Given the description of an element on the screen output the (x, y) to click on. 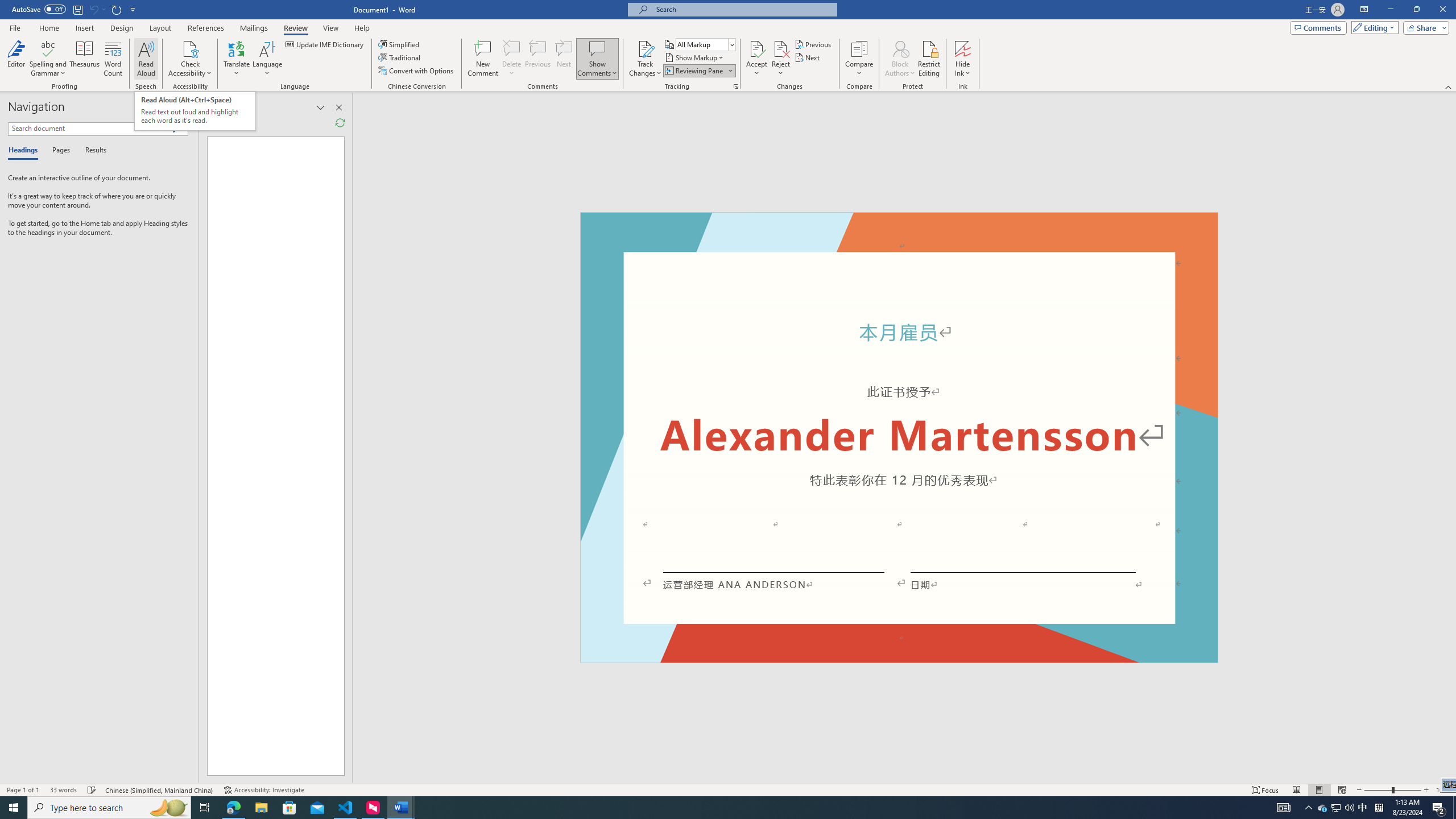
Language Chinese (Simplified, Mainland China) (159, 790)
Search document (89, 128)
Accept and Move to Next (756, 48)
Web Layout (1342, 790)
Can't Undo (92, 9)
Help (361, 28)
Results (91, 150)
Zoom In (1426, 790)
View (330, 28)
Focus  (1265, 790)
File Tab (15, 27)
